Given the description of an element on the screen output the (x, y) to click on. 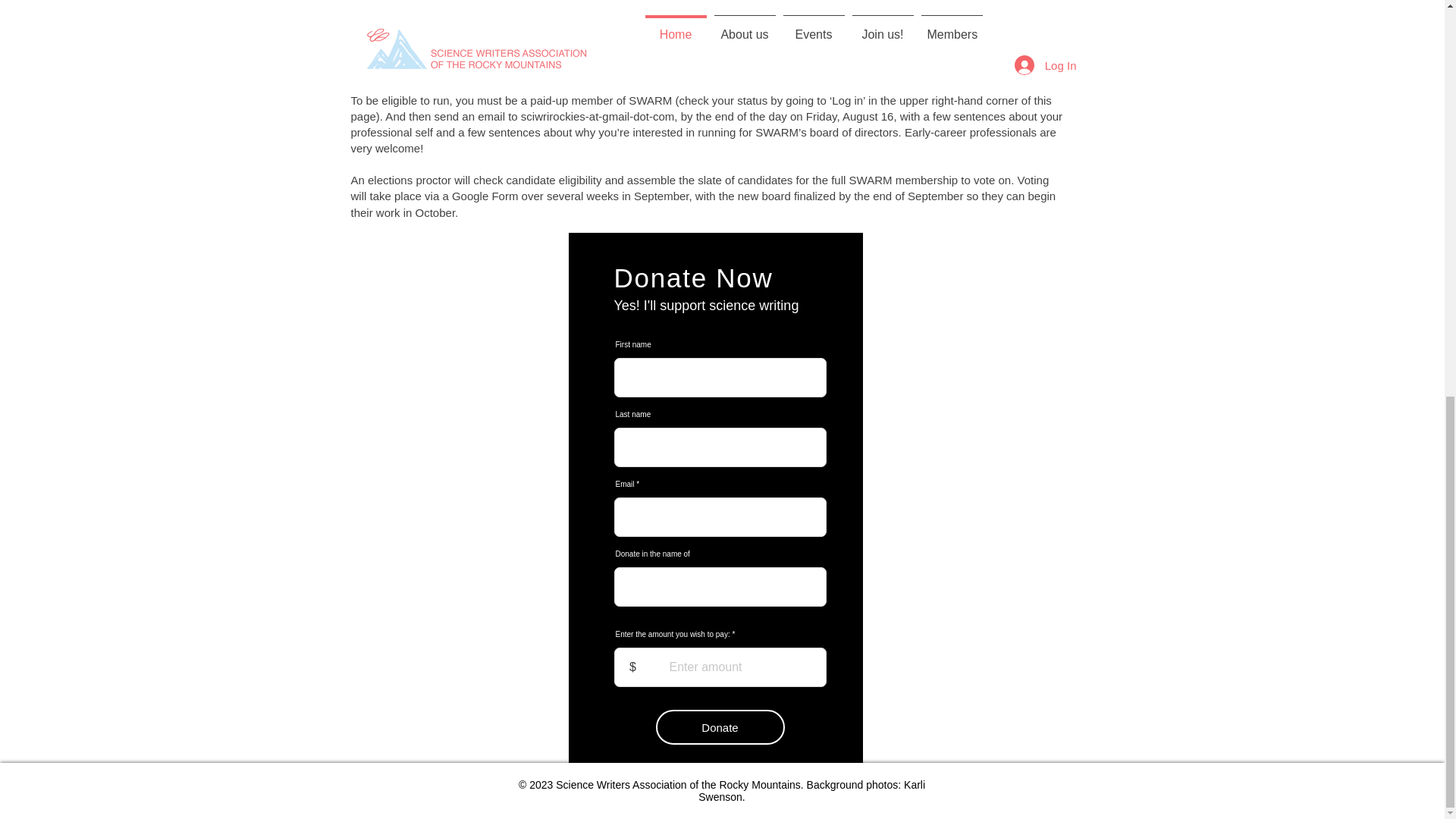
Twitter Follow (707, 50)
Donate (719, 727)
such as these (413, 68)
